Given the description of an element on the screen output the (x, y) to click on. 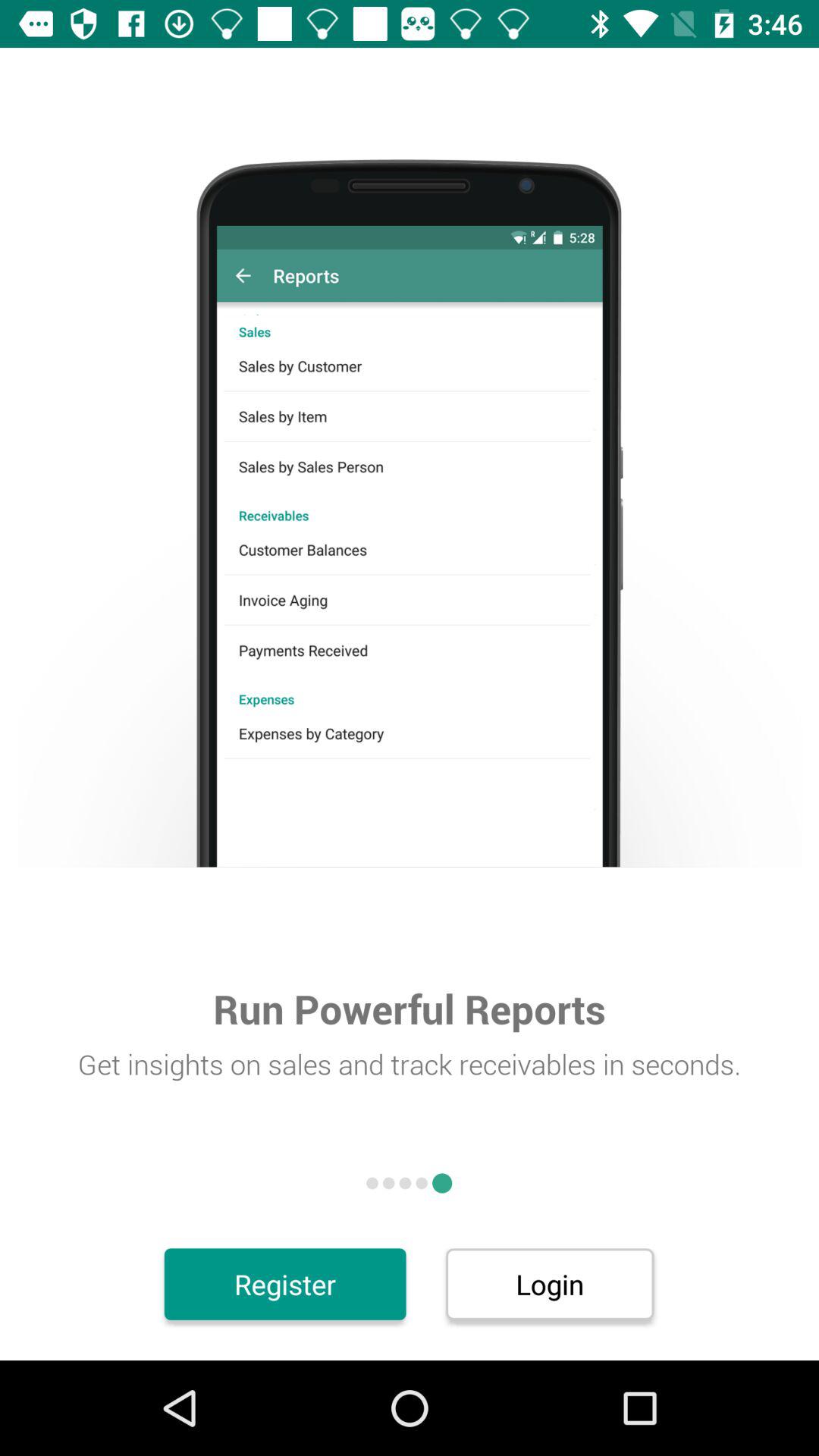
swipe until the login icon (549, 1284)
